Given the description of an element on the screen output the (x, y) to click on. 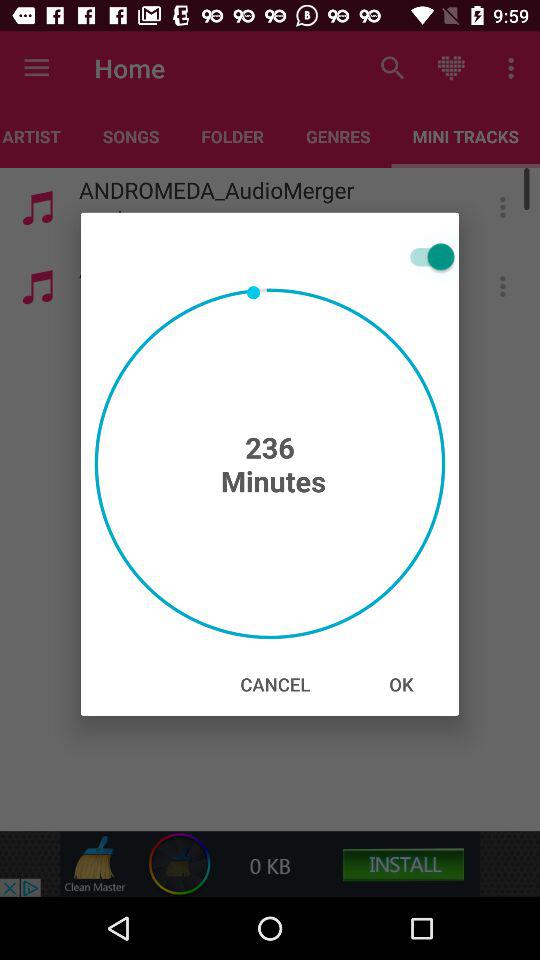
press the icon to the right of cancel (401, 683)
